Given the description of an element on the screen output the (x, y) to click on. 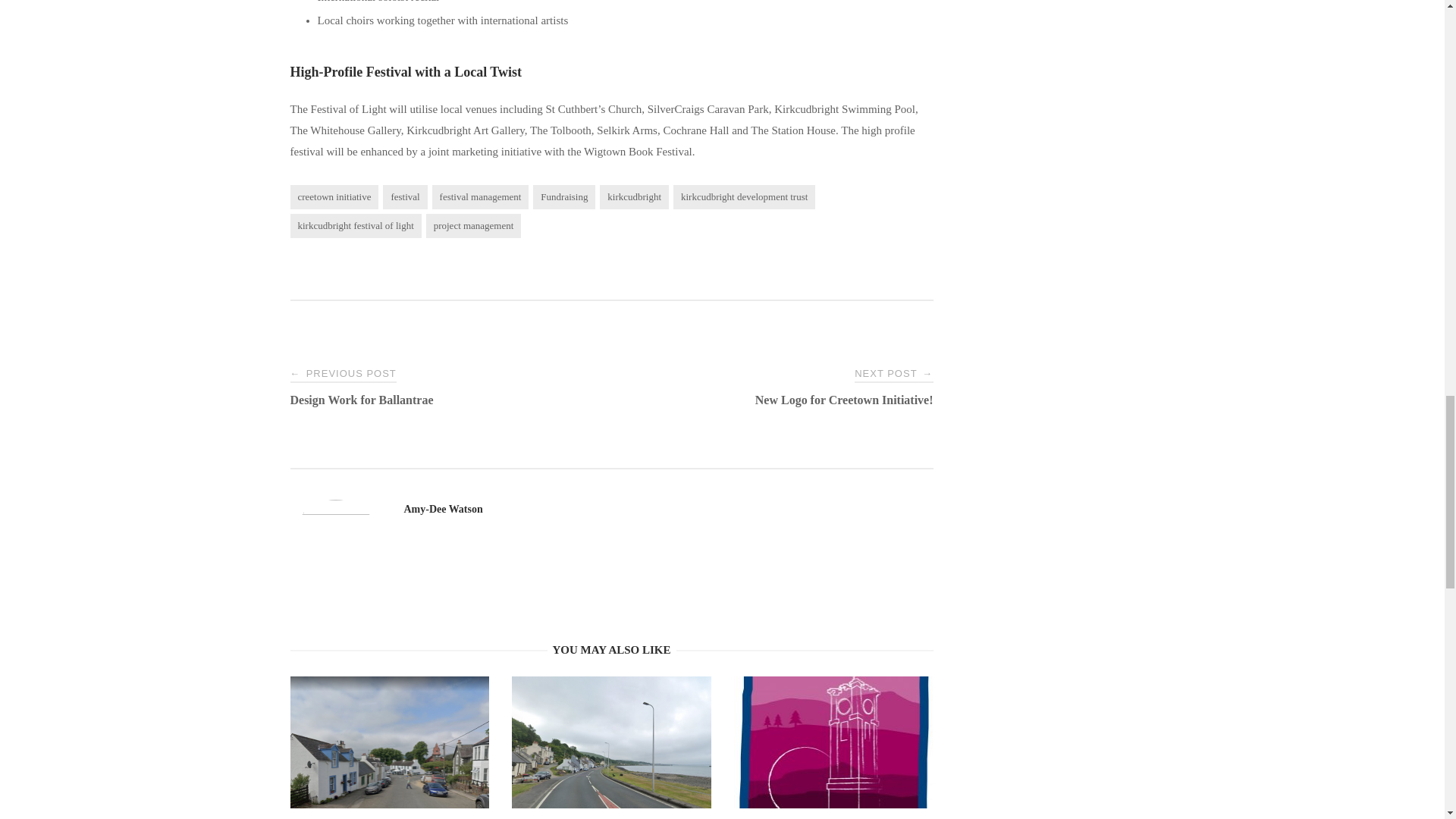
Cairnryan Community Action Plan (611, 776)
creetown initiative (333, 197)
kirkcudbright development trust (743, 197)
Health and Wellbeing Consultation in St Johns Town of Dalry (389, 776)
Amy-Dee Watson (442, 509)
Fundraising (563, 197)
festival management (480, 197)
project management (473, 225)
kirkcudbright (633, 197)
